Given the description of an element on the screen output the (x, y) to click on. 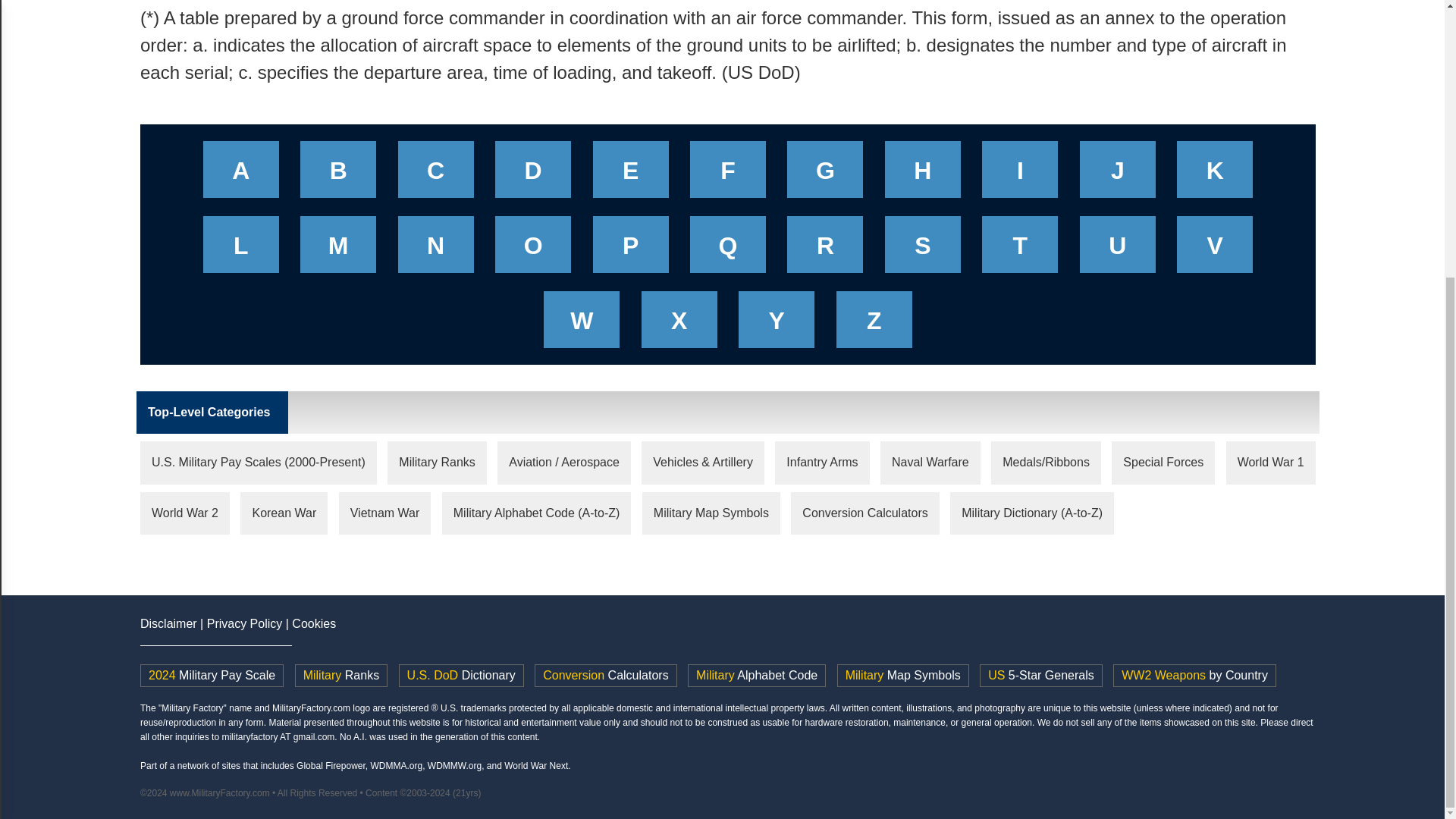
J (1117, 174)
Q (727, 249)
K (1214, 174)
P (630, 249)
F (727, 174)
N (435, 249)
L (240, 249)
O (532, 249)
H (922, 174)
M (338, 249)
